Given the description of an element on the screen output the (x, y) to click on. 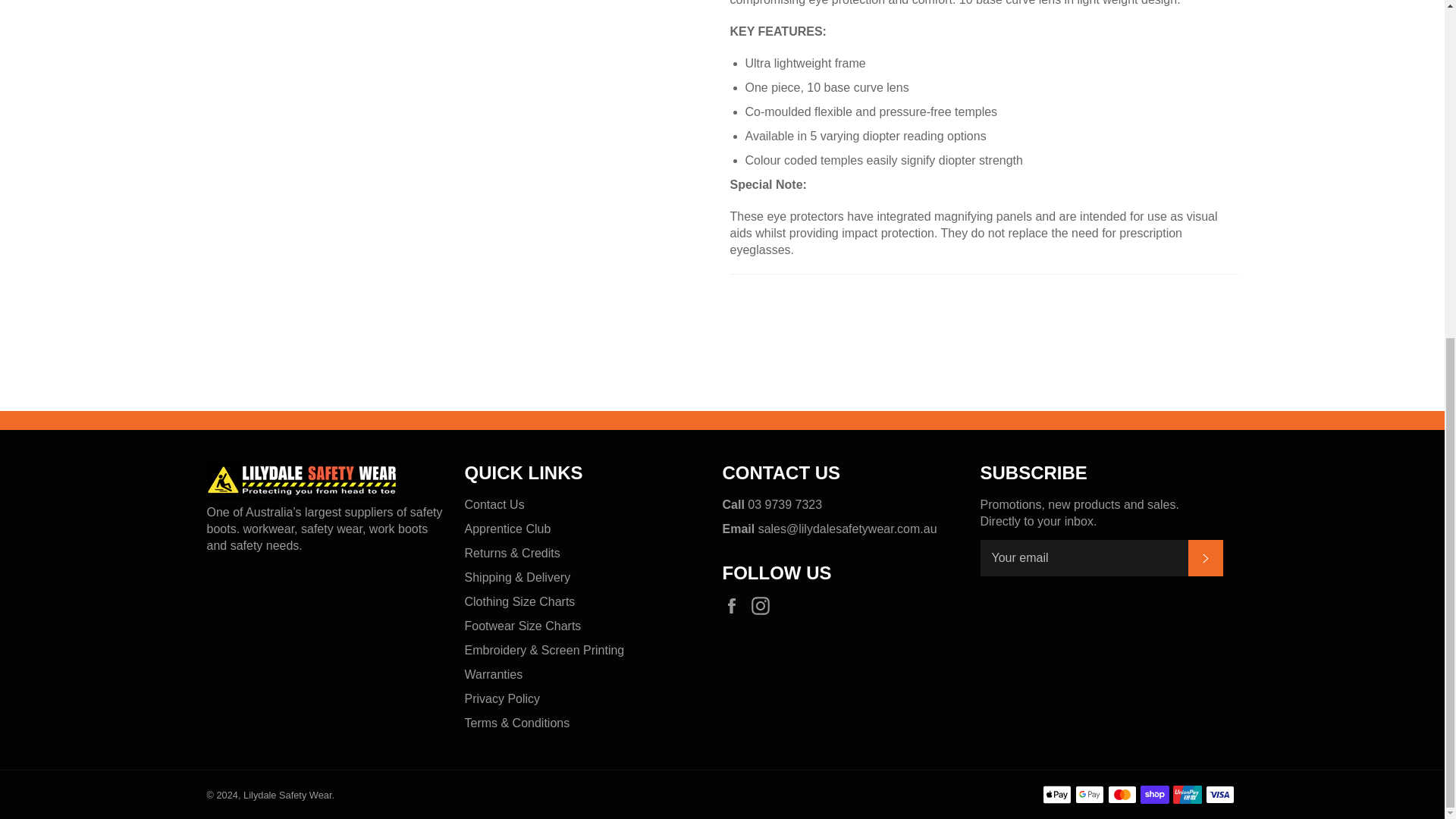
Lilydale Safety Wear on Facebook (735, 606)
Lilydale Safety Wear on Instagram (764, 606)
